Given the description of an element on the screen output the (x, y) to click on. 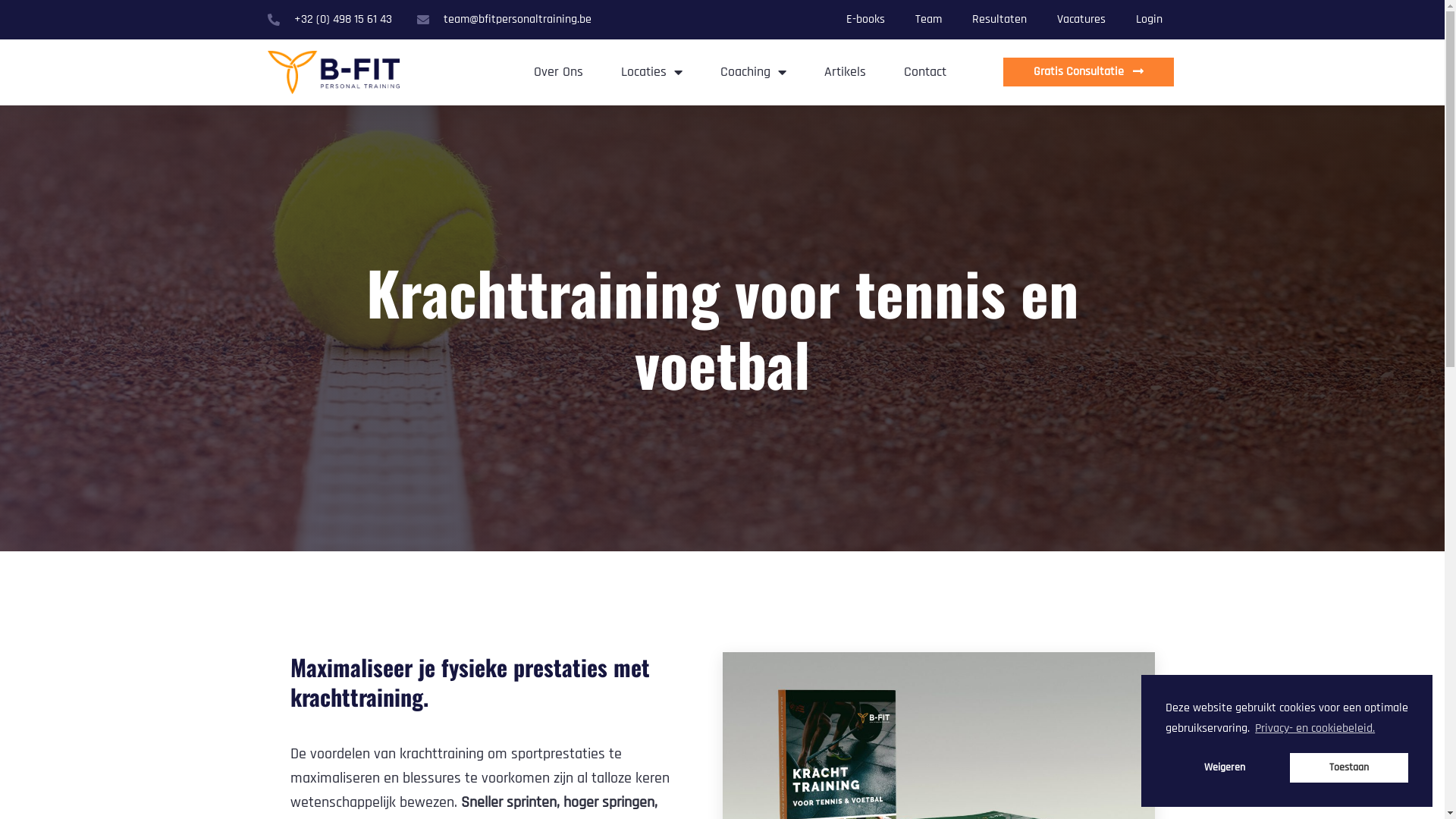
+32 (0) 498 15 61 43 Element type: text (328, 19)
E-books Element type: text (865, 19)
Vacatures Element type: text (1080, 19)
Artikels Element type: text (845, 71)
Login Element type: text (1148, 19)
Over Ons Element type: text (558, 71)
Gratis Consultatie Element type: text (1088, 71)
Toestaan Element type: text (1348, 767)
Team Element type: text (927, 19)
Coaching Element type: text (753, 71)
Contact Element type: text (924, 71)
Resultaten Element type: text (999, 19)
Privacy- en cookiebeleid. Element type: text (1314, 728)
team@bfitpersonaltraining.be Element type: text (504, 19)
Locaties Element type: text (651, 71)
Weigeren Element type: text (1224, 767)
